Given the description of an element on the screen output the (x, y) to click on. 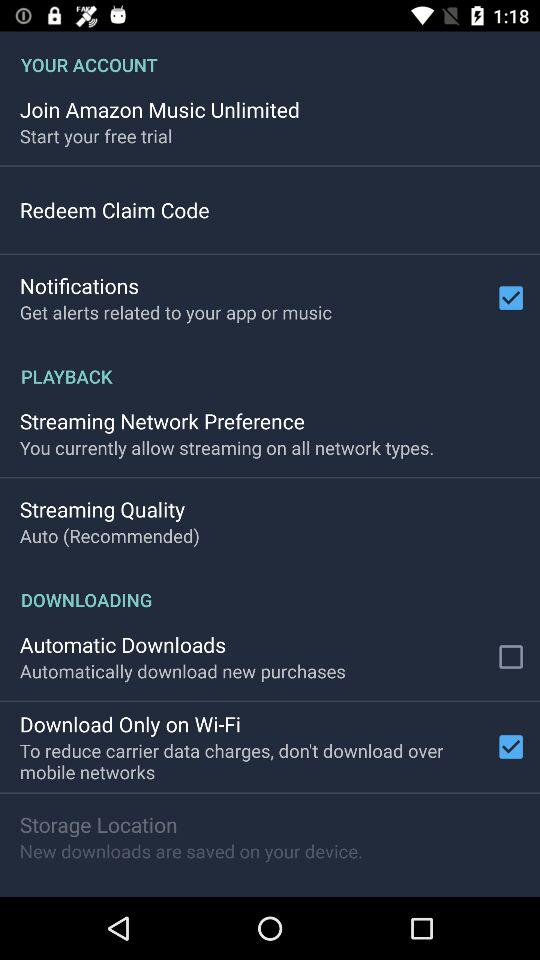
choose the item above the timers (190, 850)
